Given the description of an element on the screen output the (x, y) to click on. 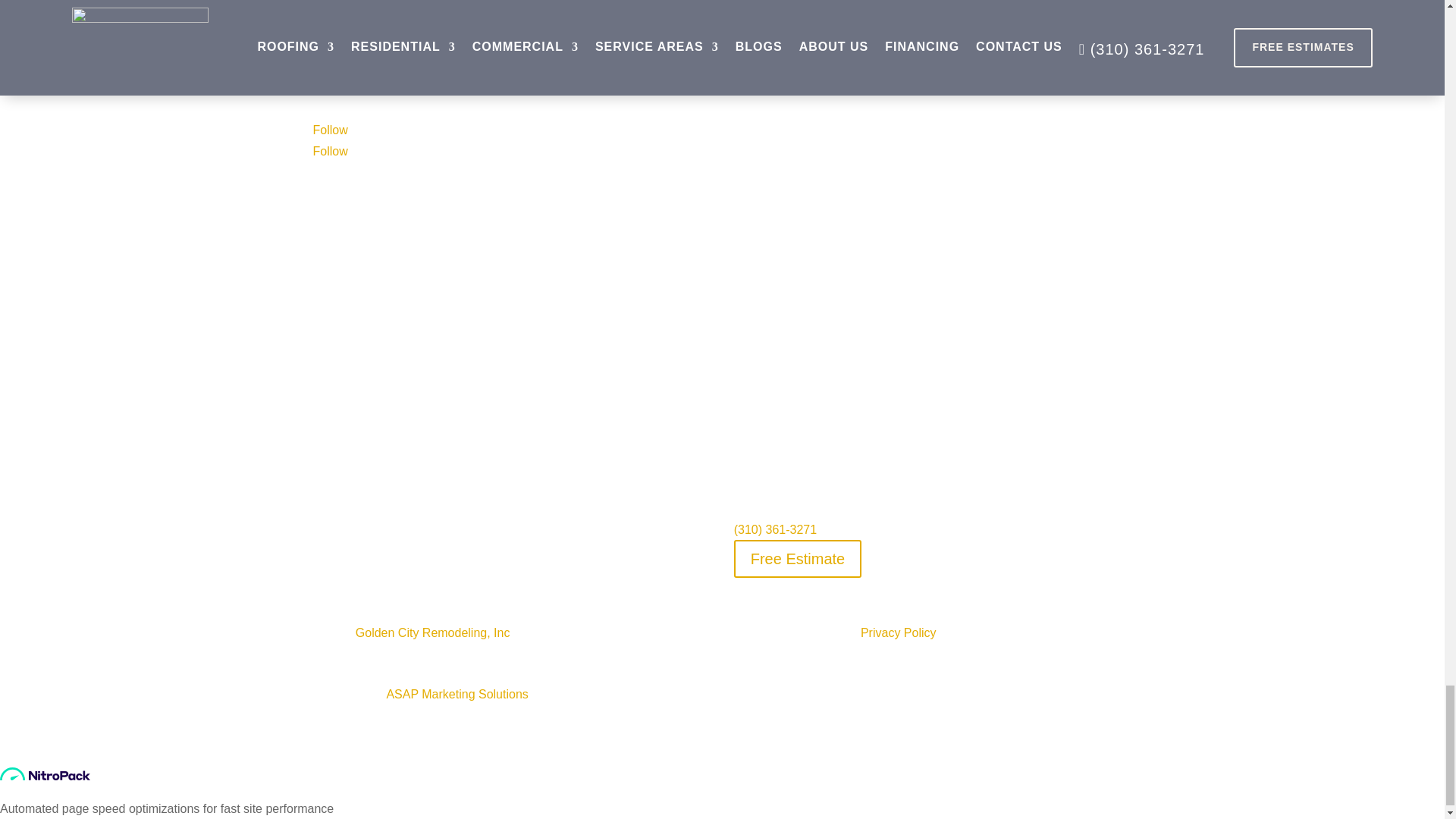
Follow on Instagram (330, 151)
Follow on Facebook (330, 129)
Golden City Remodeling LA Logo (380, 79)
